Given the description of an element on the screen output the (x, y) to click on. 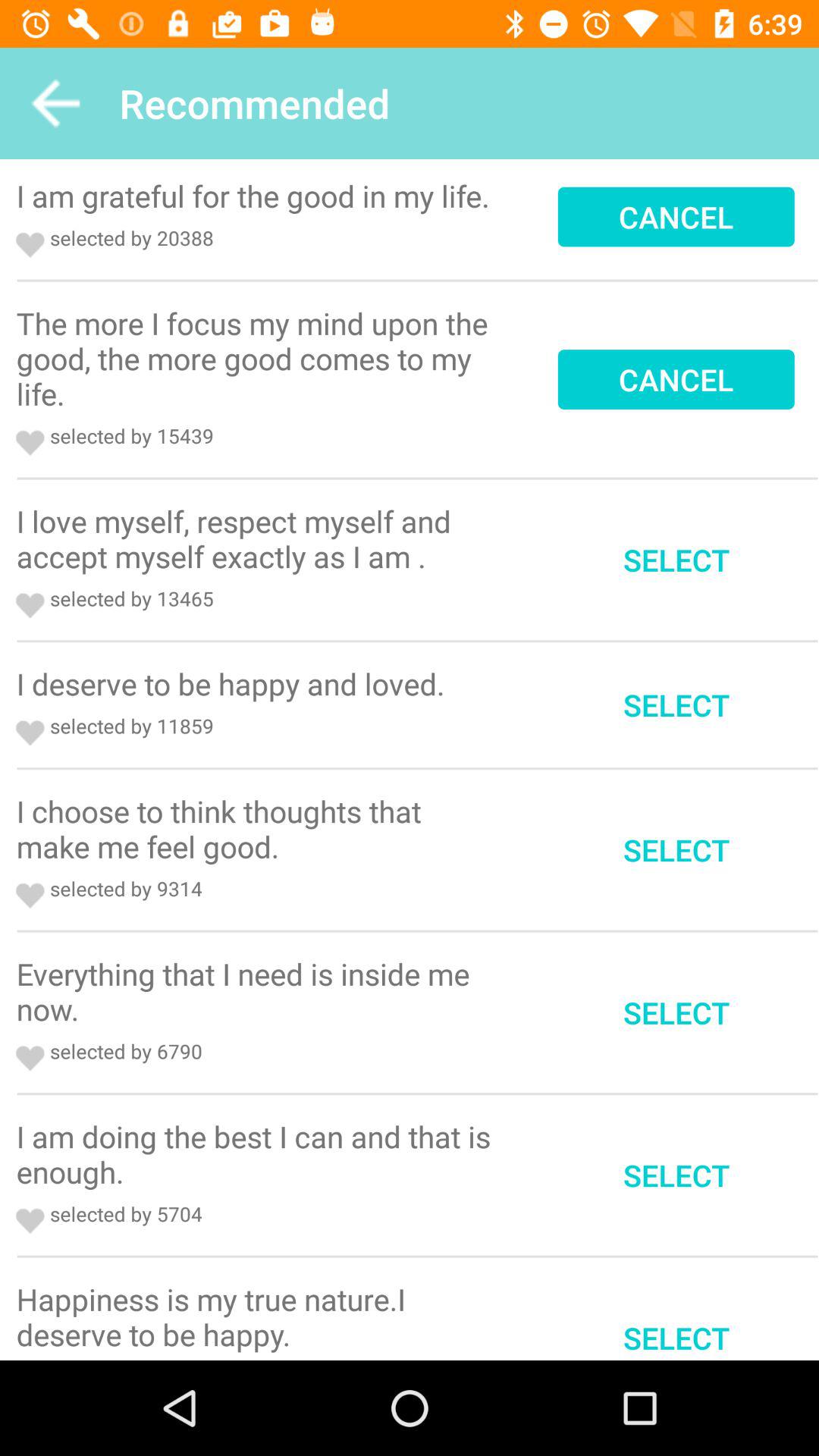
open app next to the recommended icon (55, 103)
